Given the description of an element on the screen output the (x, y) to click on. 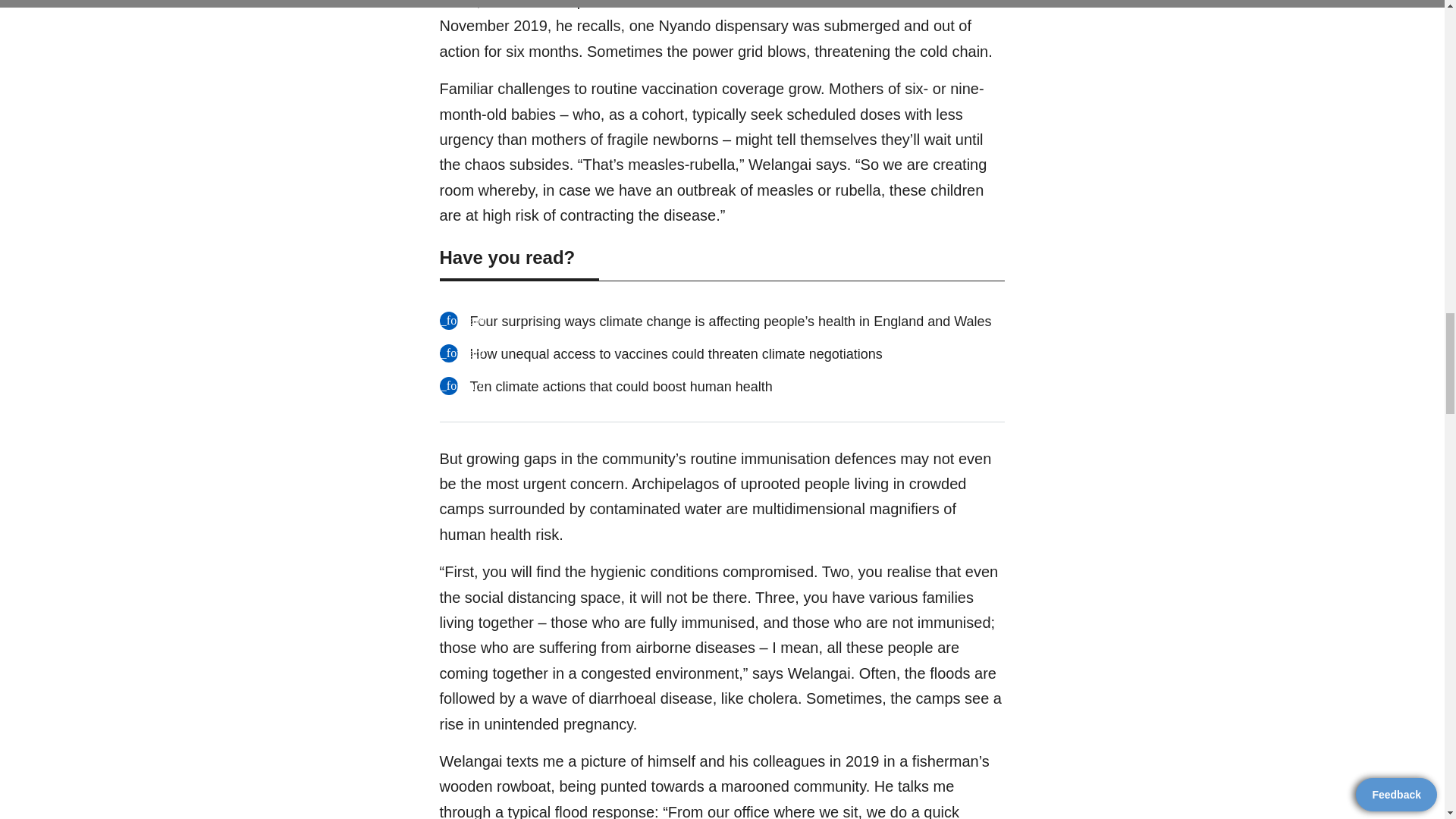
Ten climate actions that could boost human health (722, 386)
